Given the description of an element on the screen output the (x, y) to click on. 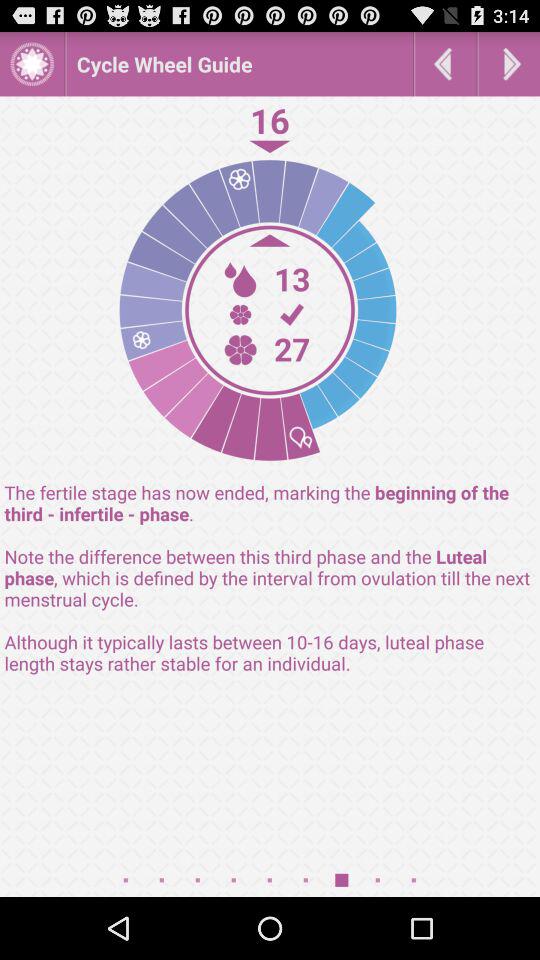
go to image (32, 63)
